Given the description of an element on the screen output the (x, y) to click on. 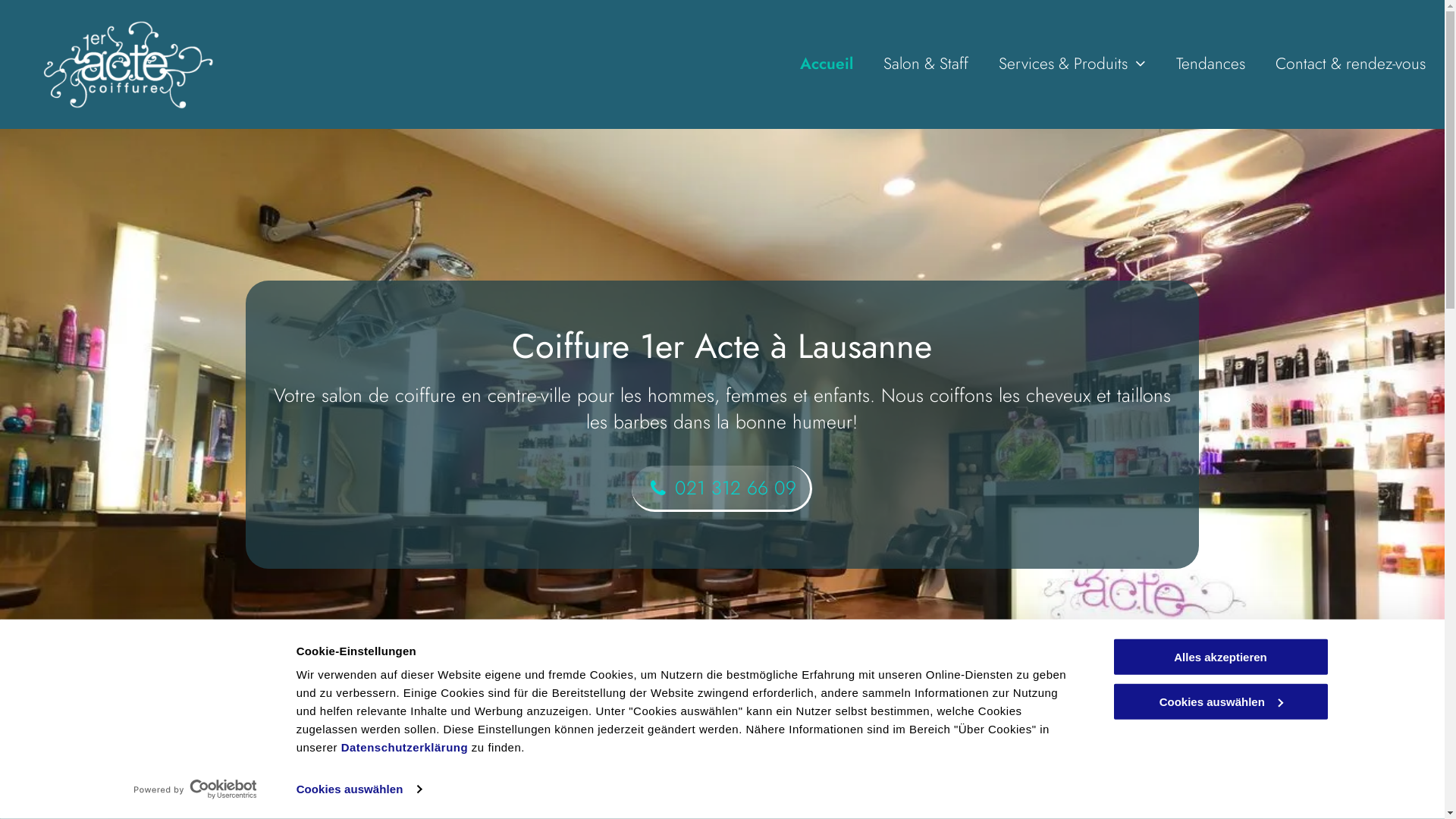
021 312 66 09 Element type: text (721, 488)
Contact & rendez-vous Element type: text (1350, 63)
Tendances Element type: text (1210, 63)
Alles akzeptieren Element type: text (1219, 656)
Services & Produits Element type: text (1071, 63)
Salon & Staff Element type: text (925, 63)
Accueil Element type: text (826, 63)
